Given the description of an element on the screen output the (x, y) to click on. 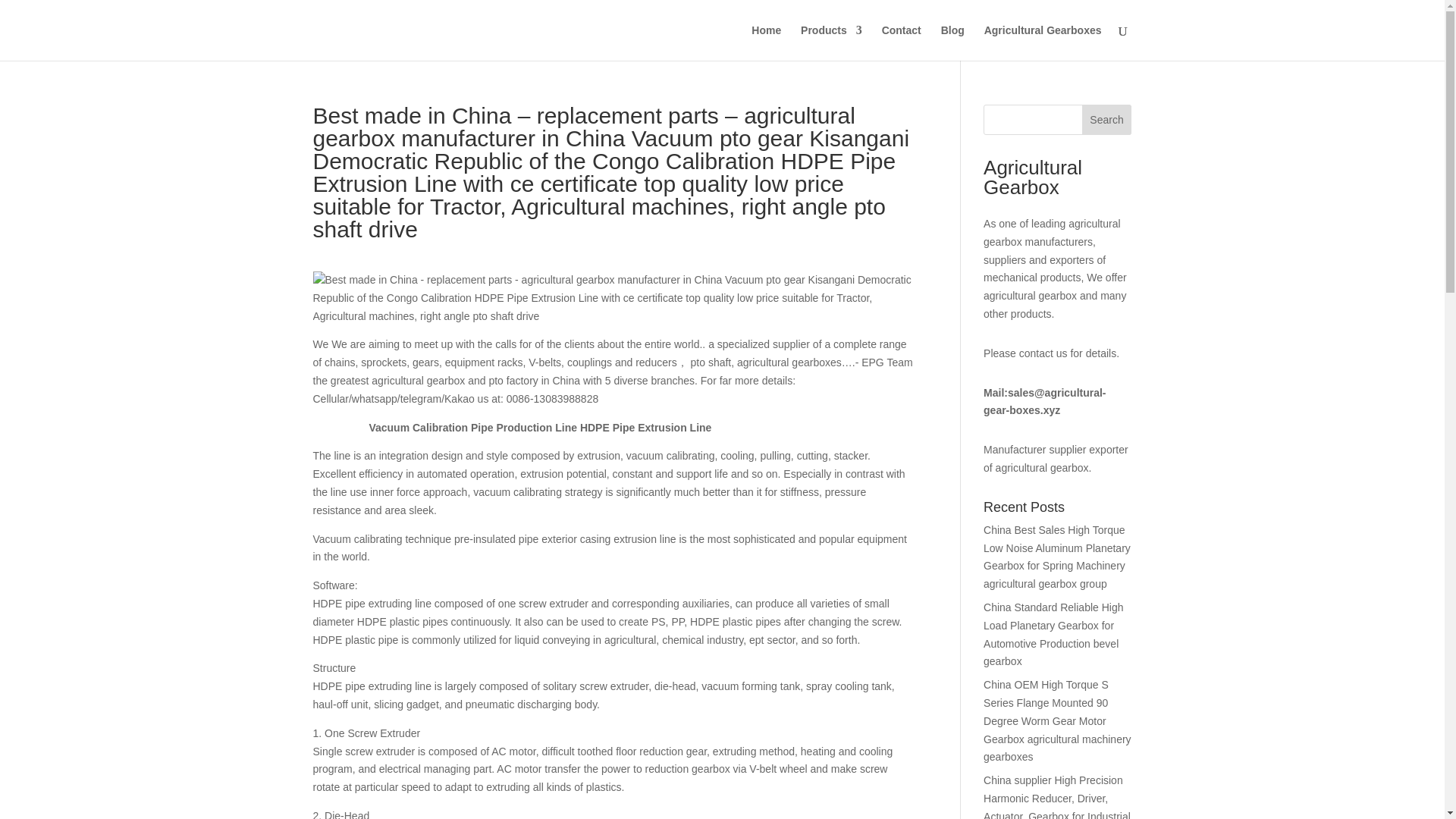
Search (1106, 119)
Agricultural Gearboxes (1043, 42)
Products (830, 42)
Contact (901, 42)
Search (1106, 119)
